Given the description of an element on the screen output the (x, y) to click on. 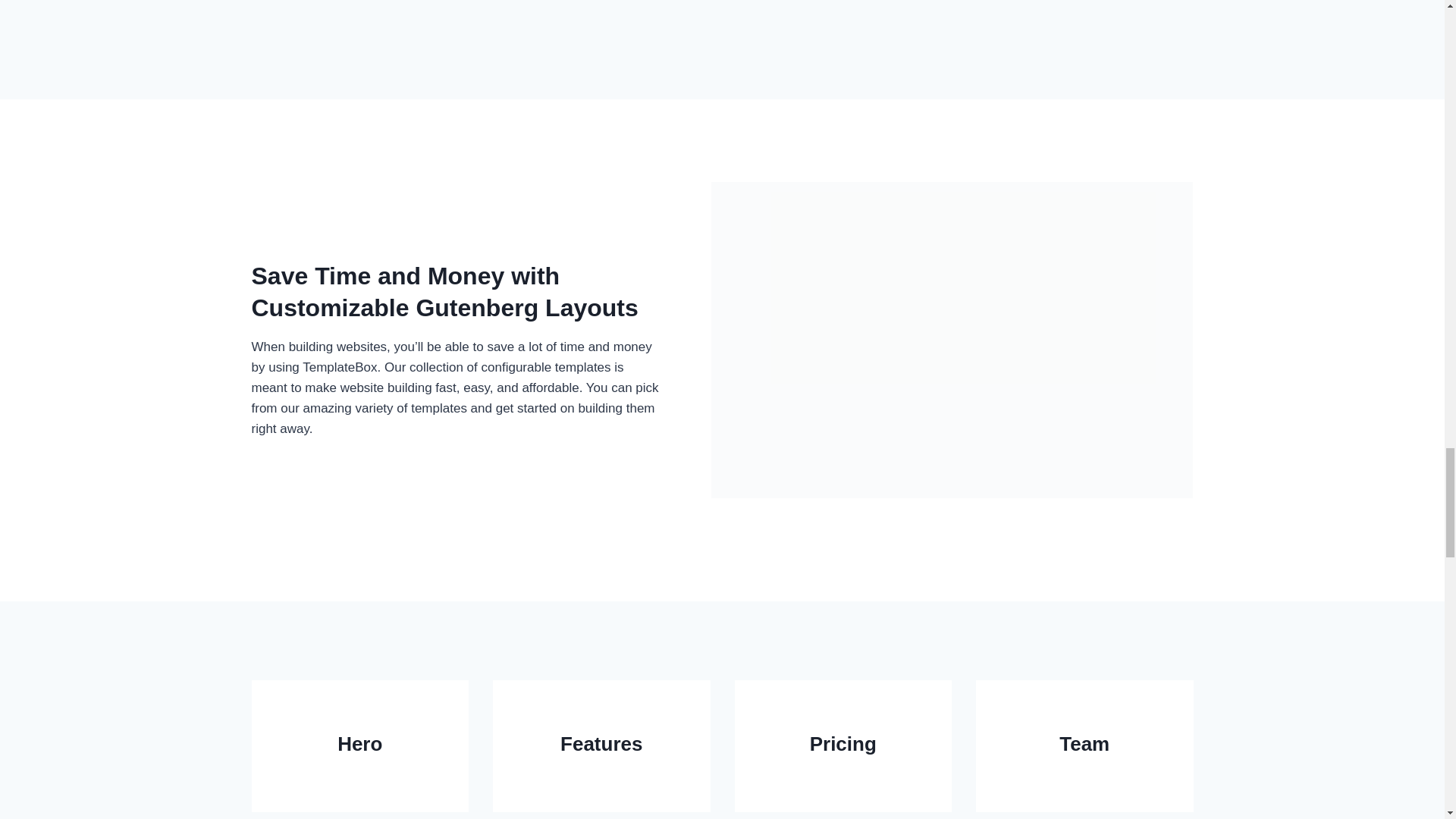
Pricing (842, 746)
Features (601, 746)
Team (1084, 746)
Hero (359, 746)
